Given the description of an element on the screen output the (x, y) to click on. 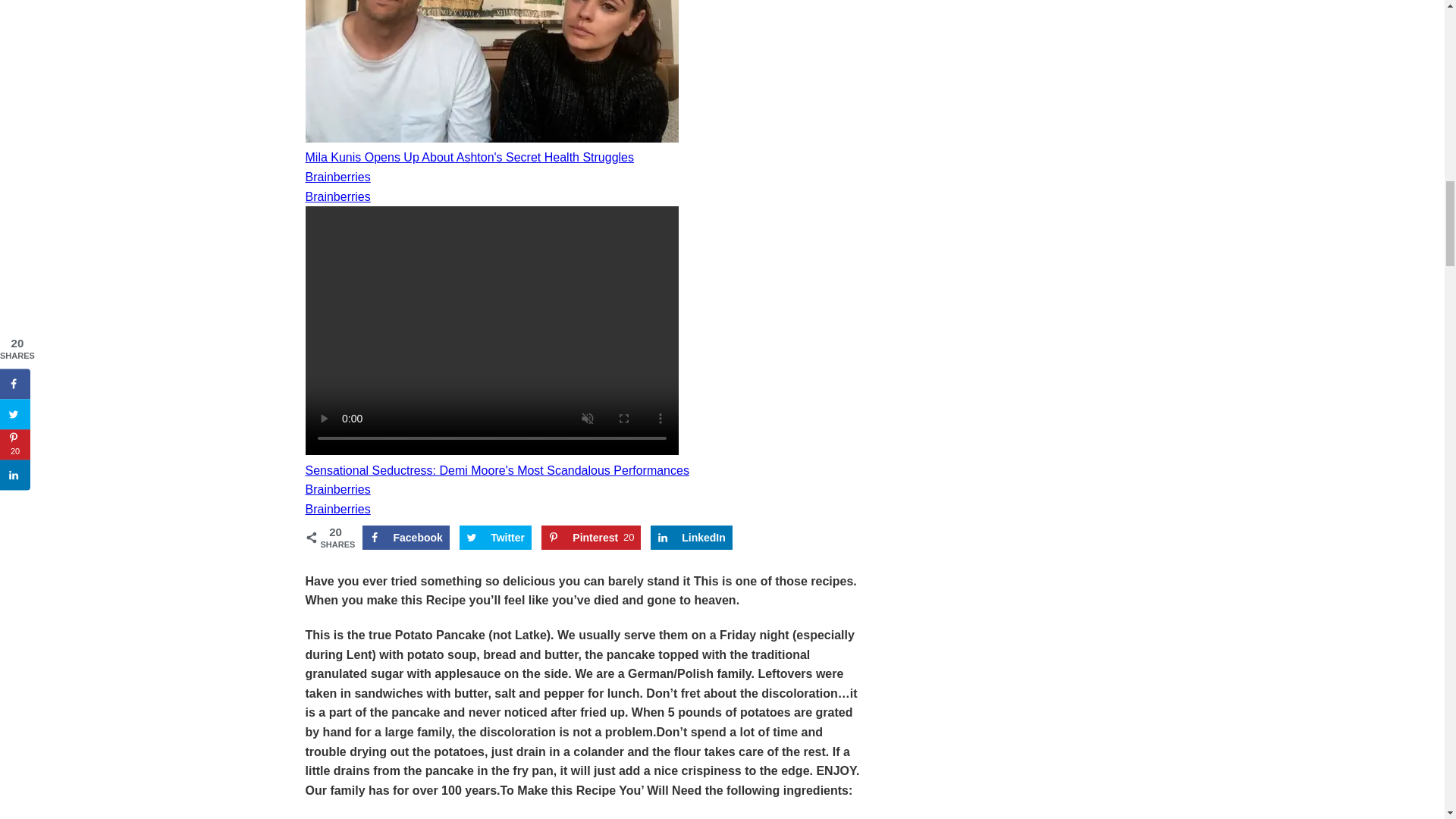
Save to Pinterest (590, 537)
LinkedIn (590, 537)
Twitter (691, 537)
Share on LinkedIn (495, 537)
Share on Facebook (691, 537)
Share on Twitter (405, 537)
Facebook (495, 537)
